Given the description of an element on the screen output the (x, y) to click on. 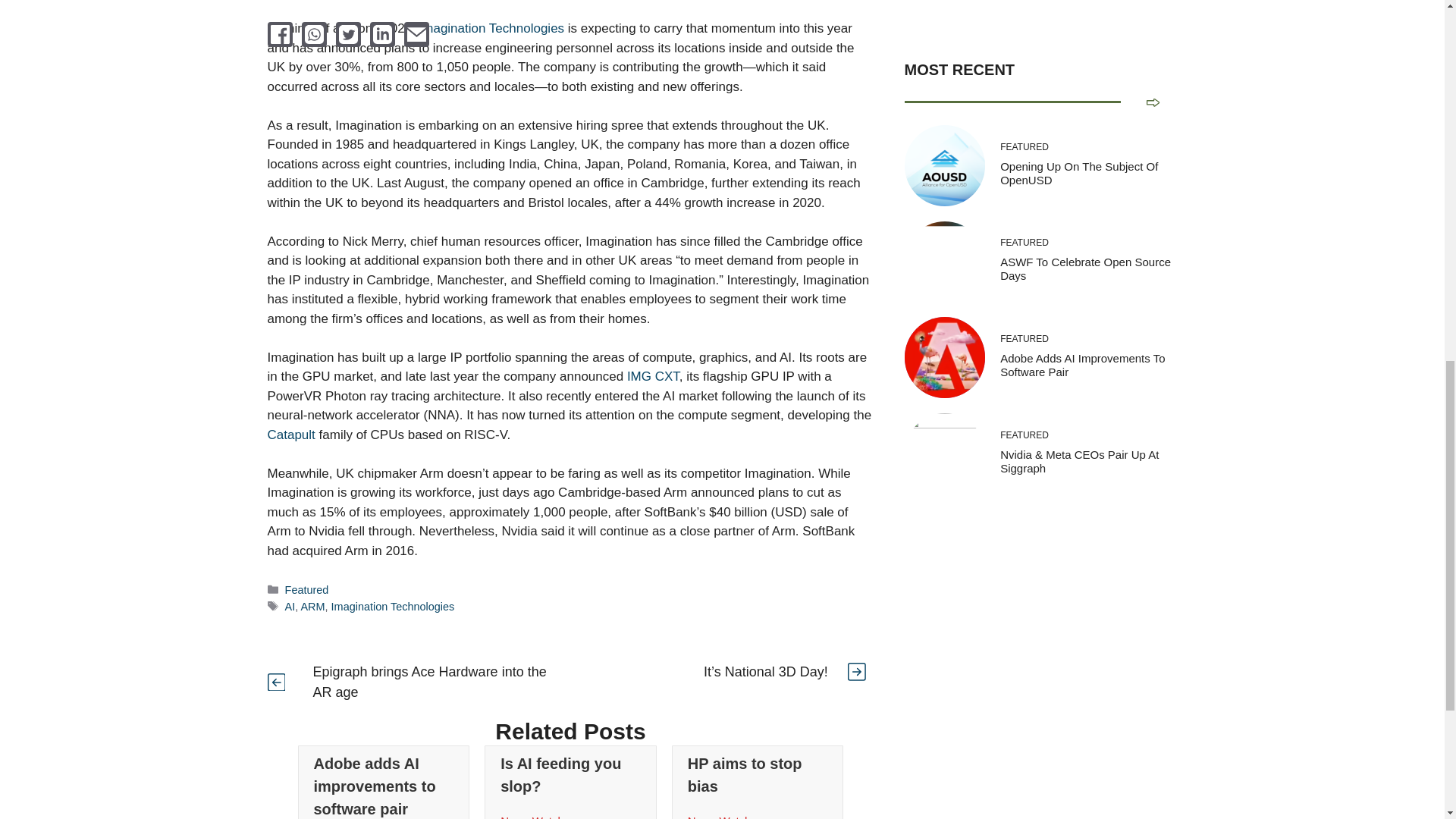
Featured (307, 589)
ARM (311, 606)
Imagination Technologies (491, 28)
IMG CXT (653, 376)
Imagination Technologies (392, 606)
Catapult (290, 434)
Epigraph brings Ace Hardware into the AR age (429, 682)
